Given the description of an element on the screen output the (x, y) to click on. 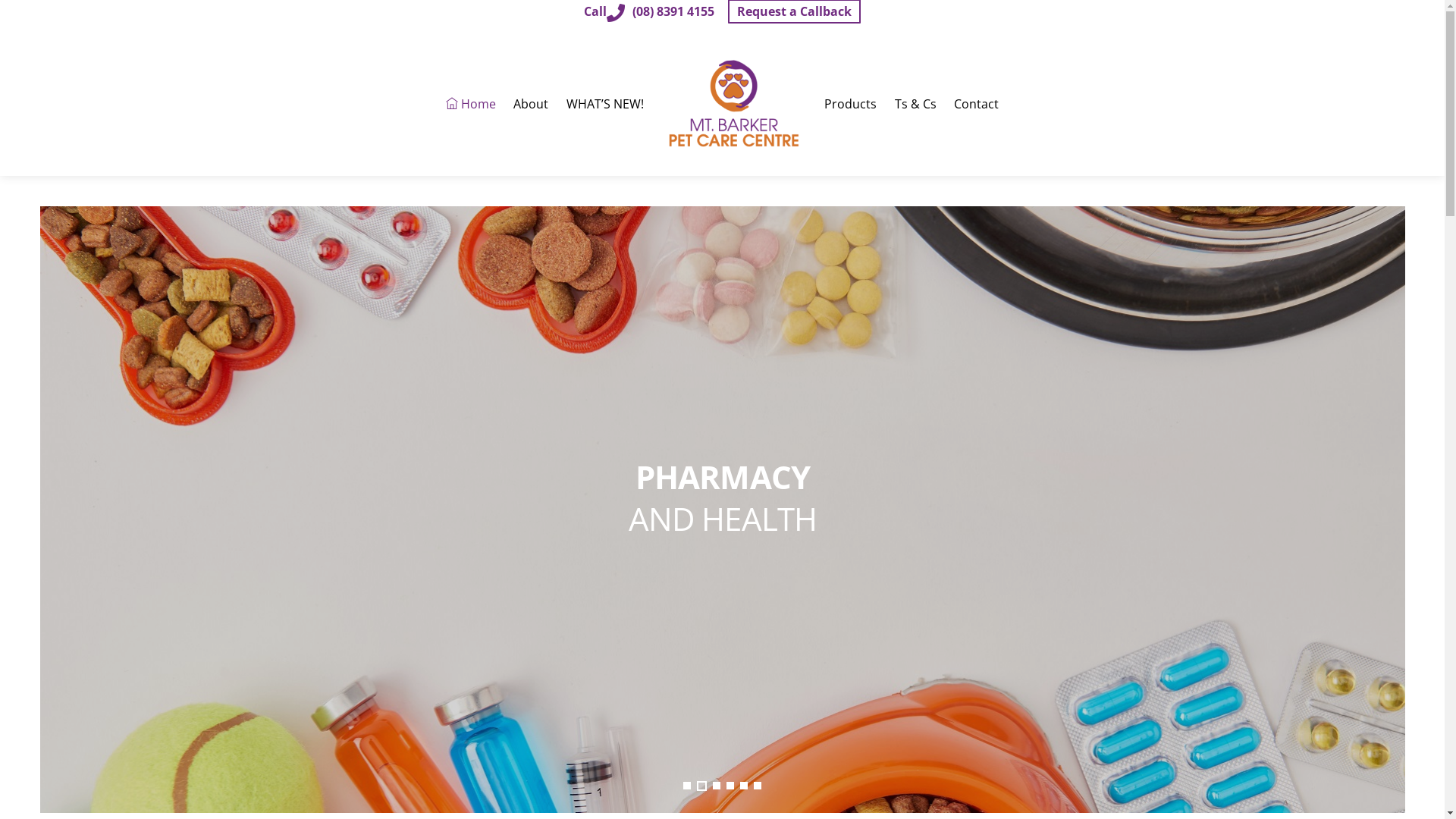
About Element type: text (530, 104)
Products Element type: text (850, 104)
Home Element type: text (471, 104)
Contact Element type: text (975, 104)
Call(08) 8391 4155 Element type: text (648, 11)
Mt. Barker Pet Care Centre Element type: hover (733, 104)
Ts & Cs Element type: text (915, 104)
